Given the description of an element on the screen output the (x, y) to click on. 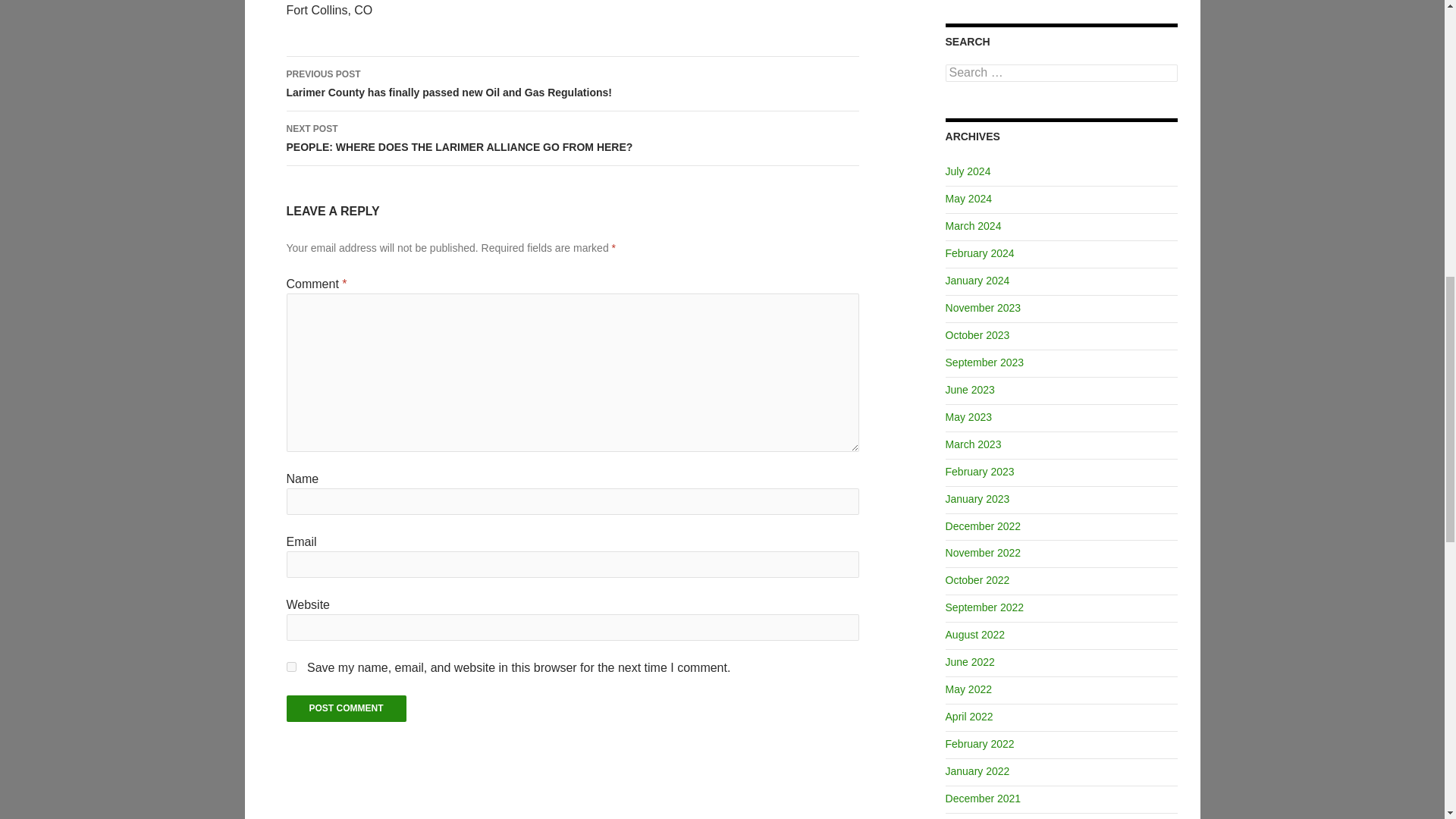
July 2024 (967, 171)
May 2023 (967, 417)
February 2024 (979, 253)
Post Comment (346, 708)
November 2023 (983, 307)
February 2023 (979, 471)
January 2024 (977, 280)
Post Comment (346, 708)
